Given the description of an element on the screen output the (x, y) to click on. 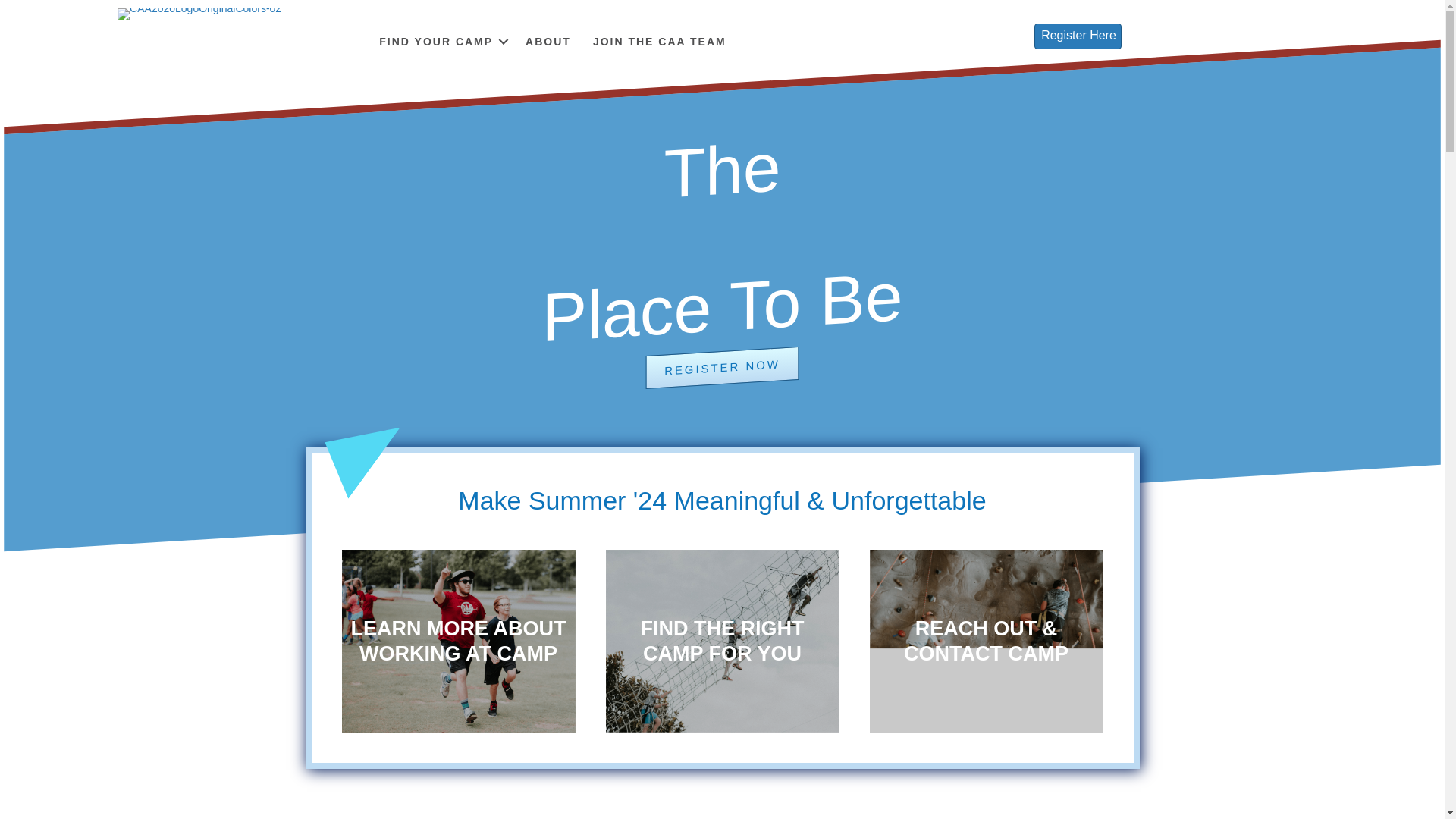
ABOUT (547, 41)
JOIN THE CAA TEAM (659, 41)
Register Here (1077, 36)
FIND YOUR CAMP (440, 41)
REGISTER NOW (722, 363)
CAA2020LogoOriginalColors-02 (199, 14)
